Given the description of an element on the screen output the (x, y) to click on. 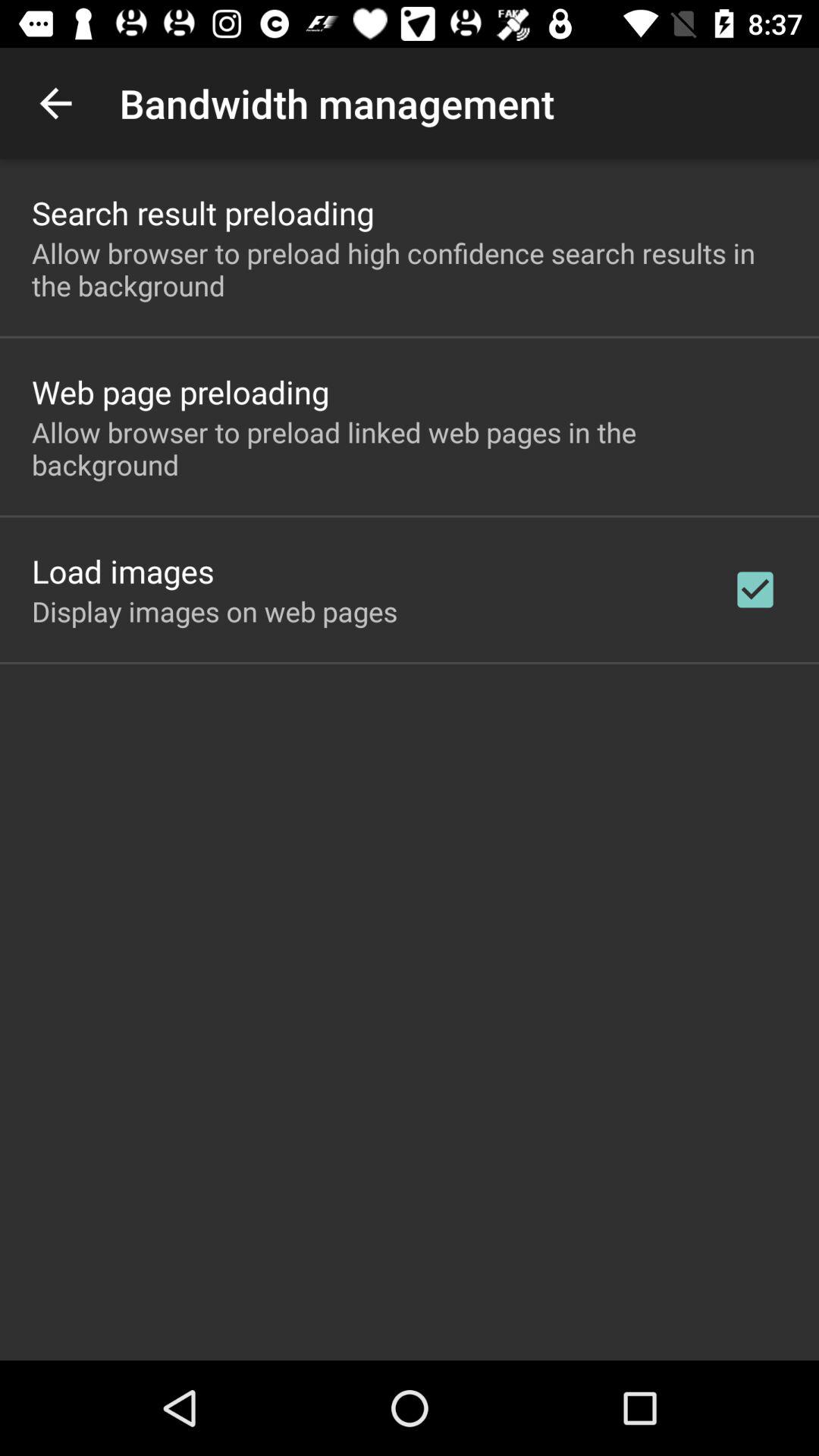
scroll to web page preloading icon (180, 391)
